Given the description of an element on the screen output the (x, y) to click on. 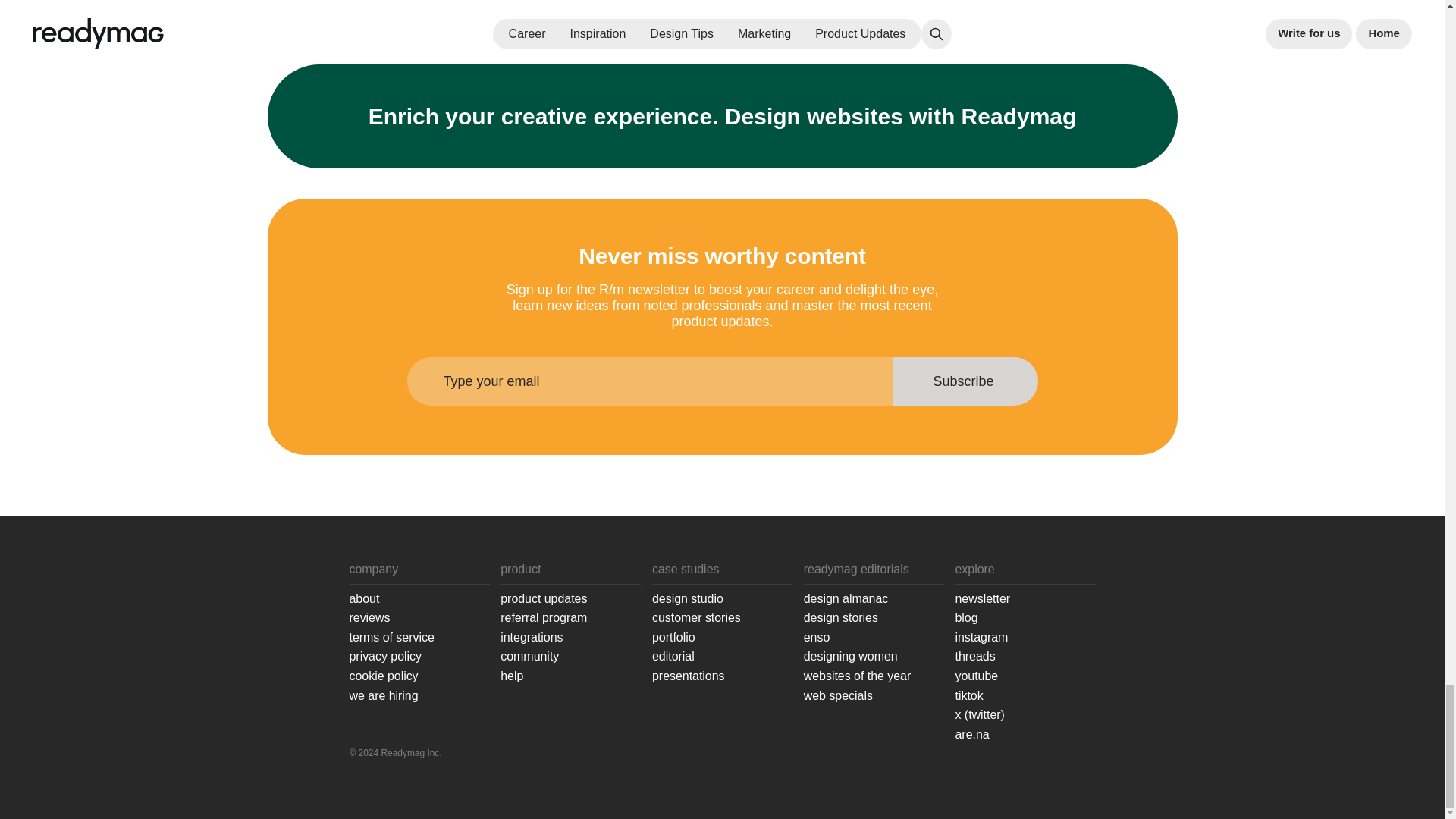
Subscribe (964, 381)
we are hiring (383, 696)
privacy policy (384, 656)
design studio (687, 598)
customer stories (696, 618)
referral program (543, 618)
help (511, 676)
about (363, 598)
Subscribe (964, 381)
community (529, 656)
terms of service (391, 637)
product updates (543, 598)
cookie policy (383, 676)
integrations (531, 637)
